Given the description of an element on the screen output the (x, y) to click on. 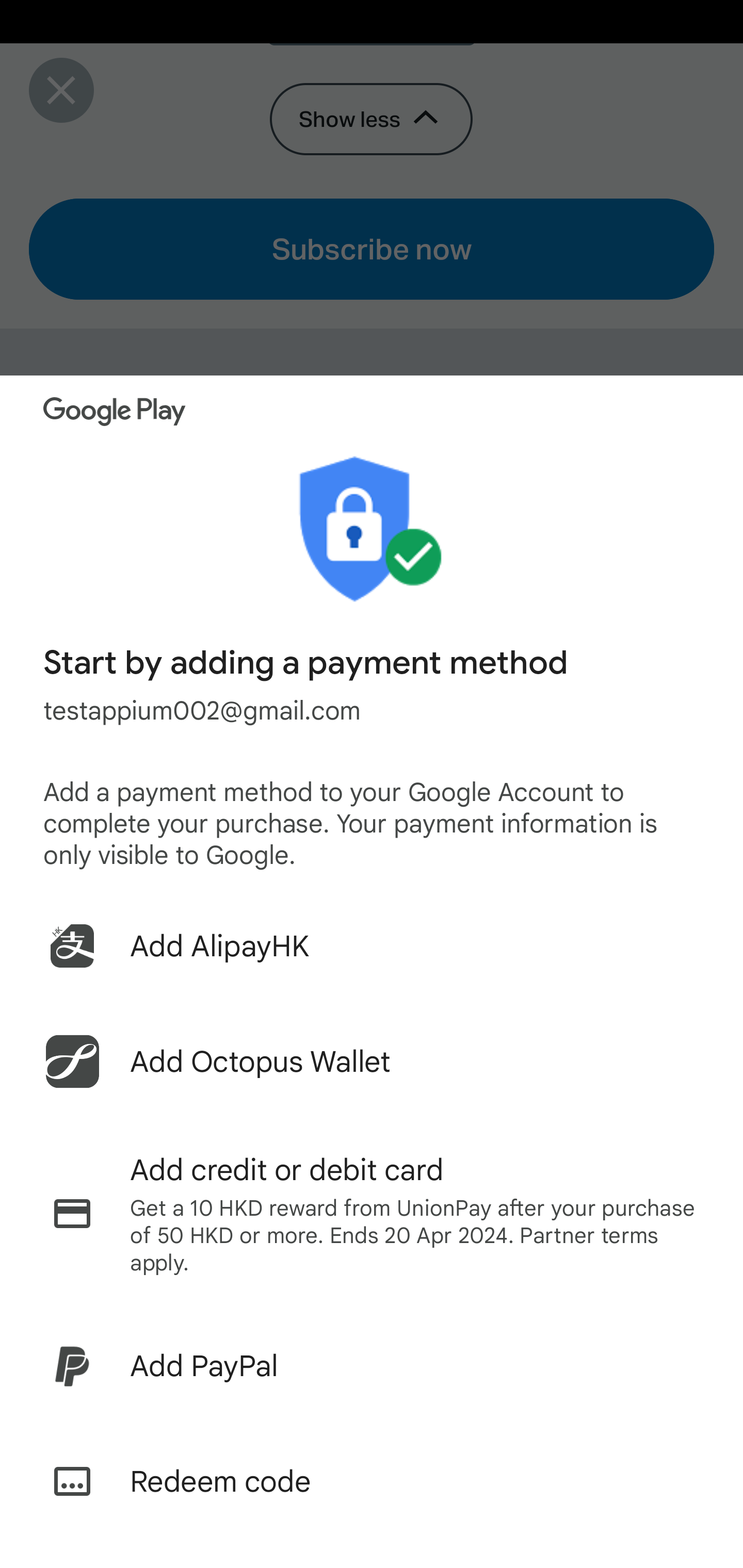
Add AlipayHK (371, 945)
Add Octopus Wallet (371, 1061)
Add PayPal (371, 1365)
Redeem code (371, 1481)
